Given the description of an element on the screen output the (x, y) to click on. 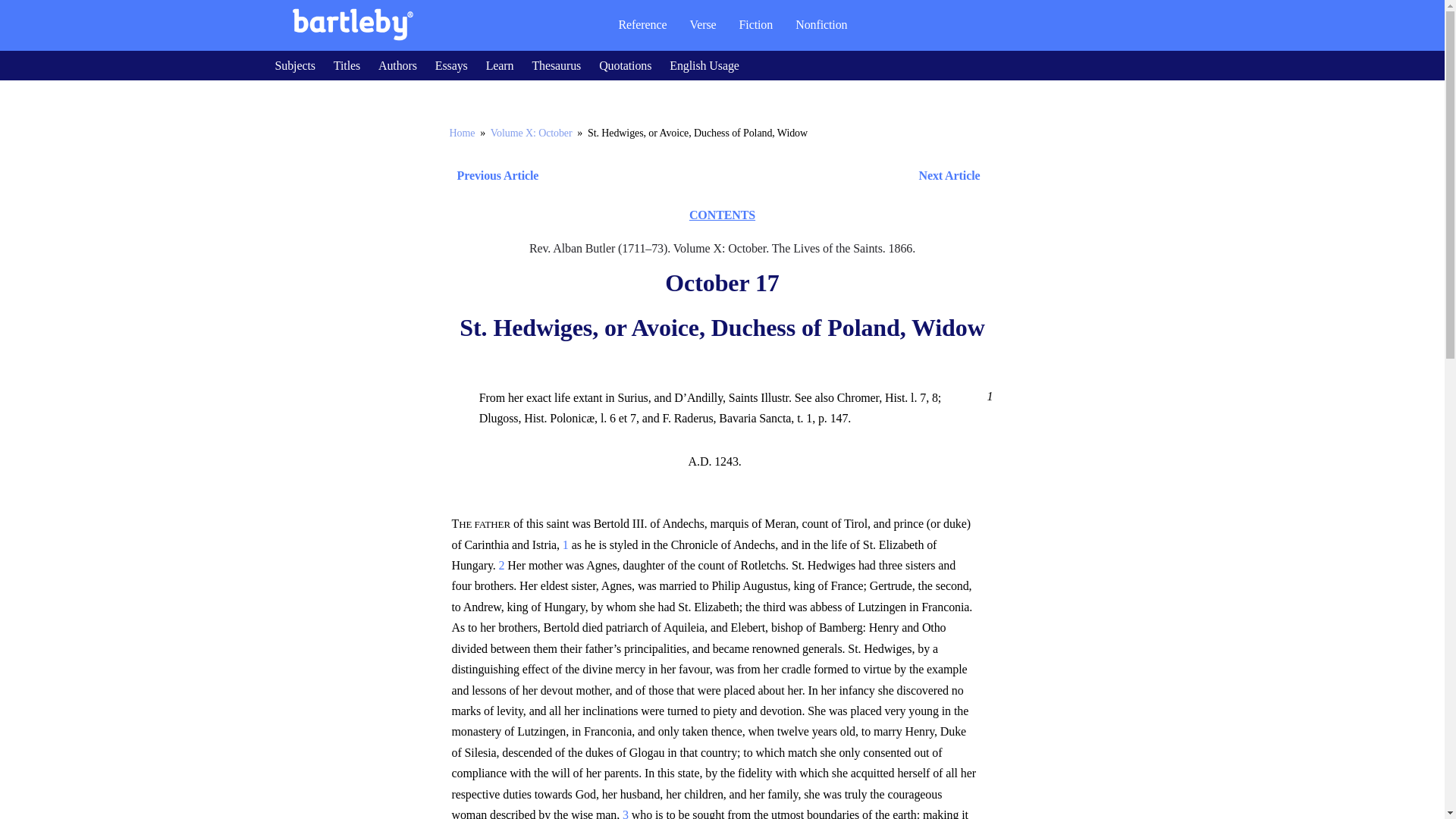
Subjects (294, 65)
Next Article (766, 175)
Reference (642, 24)
Learn (499, 65)
Authors (397, 65)
Verse (702, 24)
Quotations (624, 65)
Fiction (756, 24)
Volume X: October (531, 132)
Previous Article (493, 175)
